Given the description of an element on the screen output the (x, y) to click on. 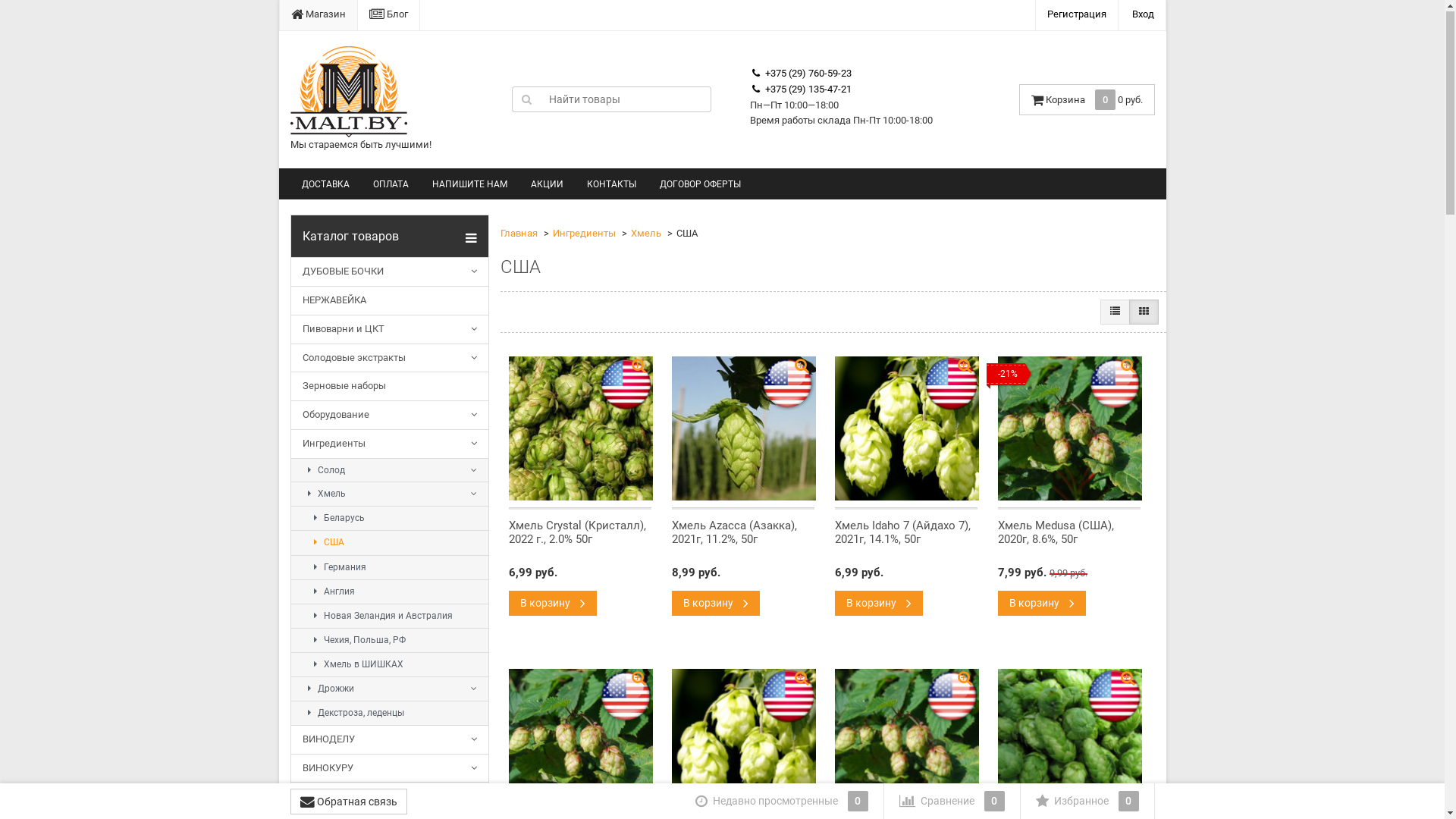
+375 (29) 760-59-23 Element type: text (800, 73)
+375 (29) 135-47-21 Element type: text (800, 89)
-21% Element type: text (1068, 429)
